Given the description of an element on the screen output the (x, y) to click on. 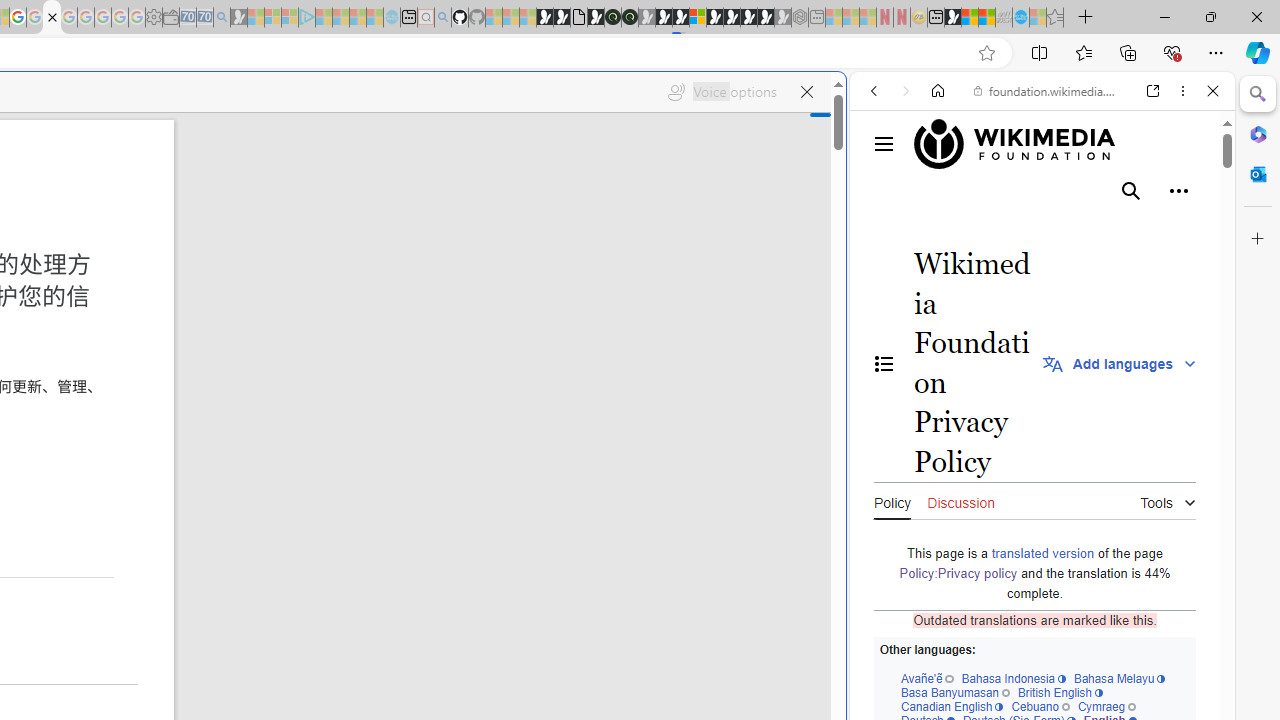
Bahasa Melayu (1119, 678)
Discussion (960, 500)
Policy (892, 500)
Canadian English (951, 706)
Cebuano (1040, 706)
